Given the description of an element on the screen output the (x, y) to click on. 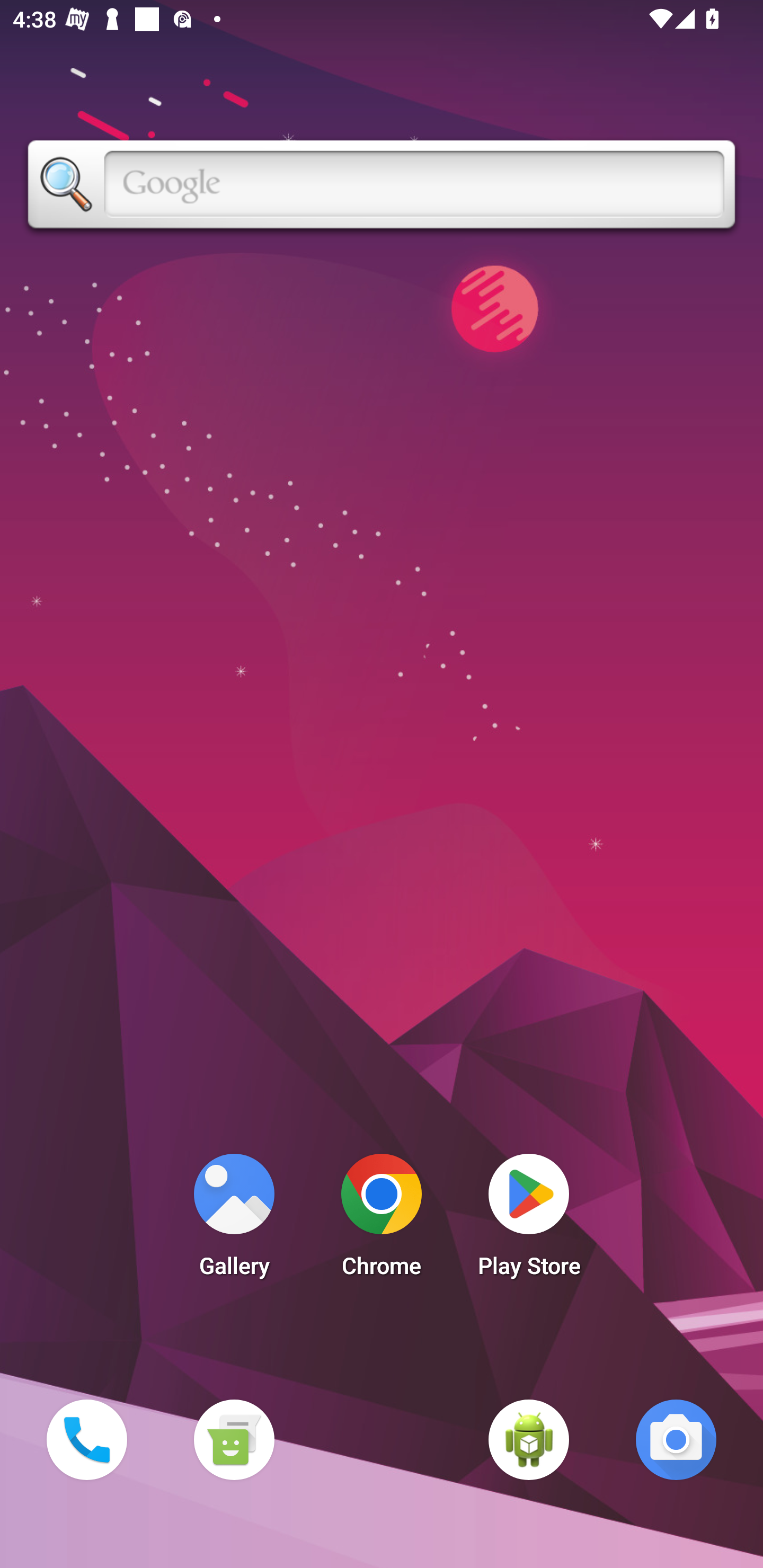
Gallery (233, 1220)
Chrome (381, 1220)
Play Store (528, 1220)
Phone (86, 1439)
Messaging (233, 1439)
WebView Browser Tester (528, 1439)
Camera (676, 1439)
